Given the description of an element on the screen output the (x, y) to click on. 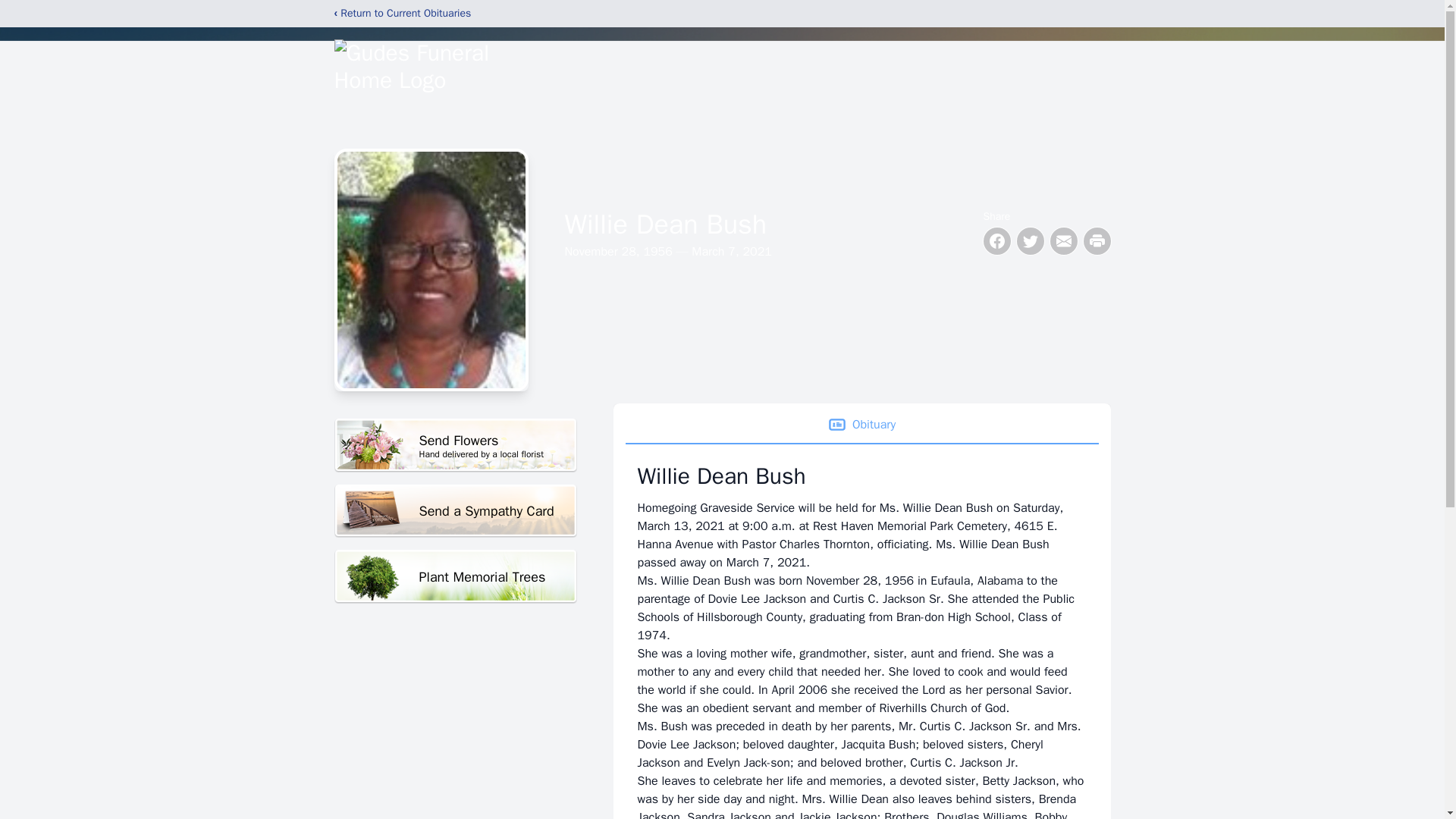
Obituary (860, 425)
Plant Memorial Trees (454, 576)
Send a Sympathy Card (454, 445)
